Given the description of an element on the screen output the (x, y) to click on. 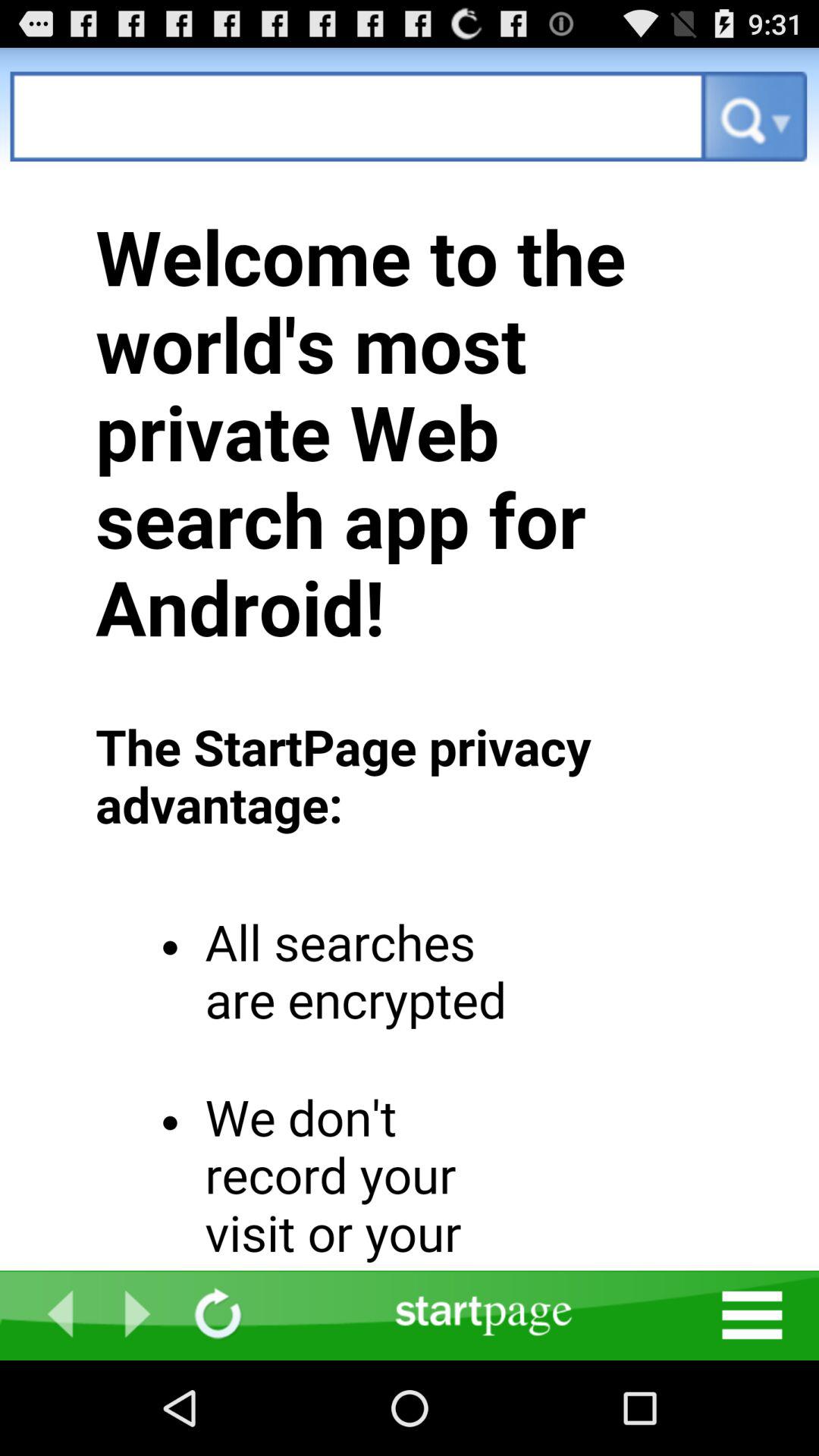
search (357, 116)
